Given the description of an element on the screen output the (x, y) to click on. 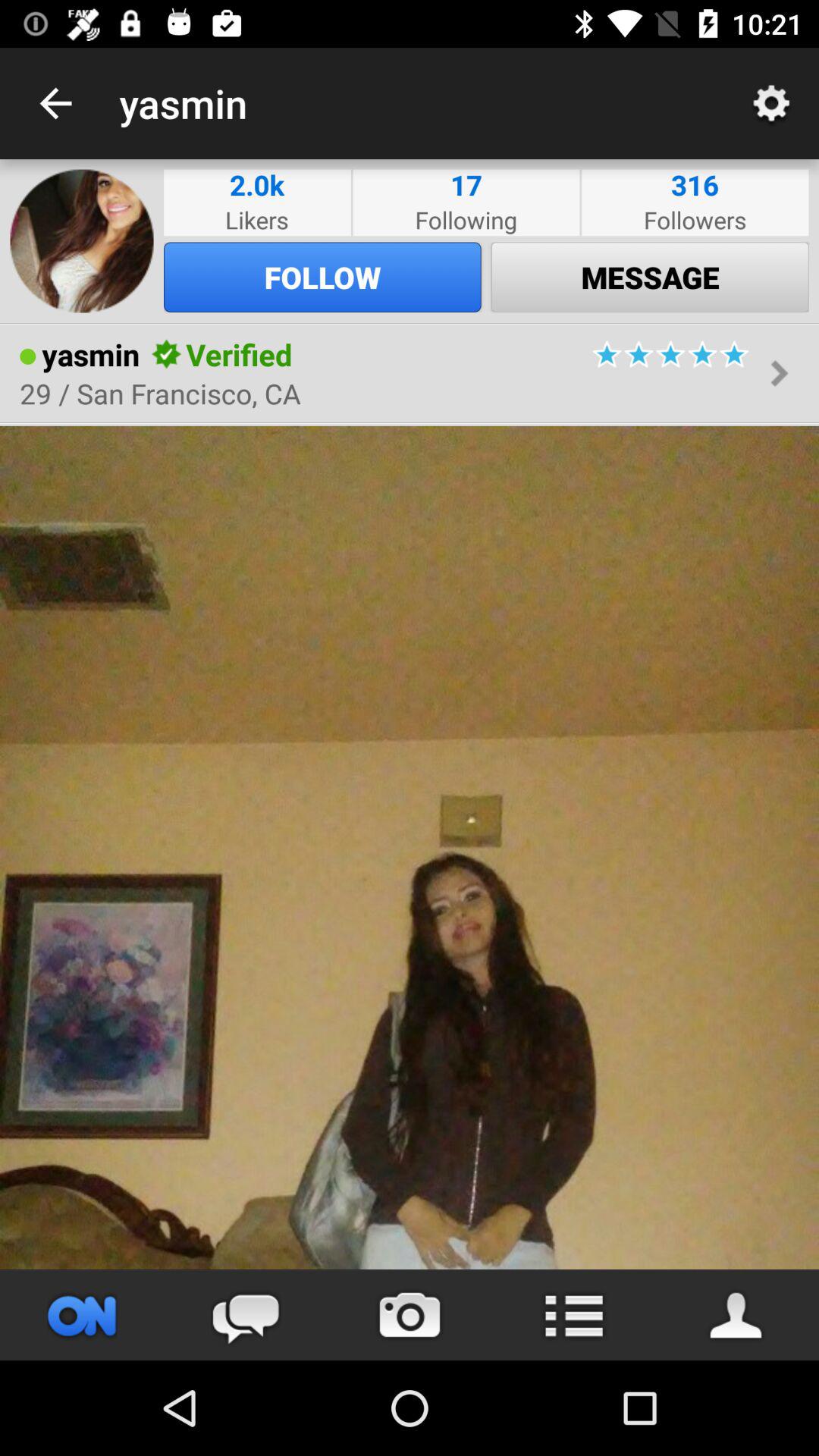
jump until the following icon (466, 219)
